Given the description of an element on the screen output the (x, y) to click on. 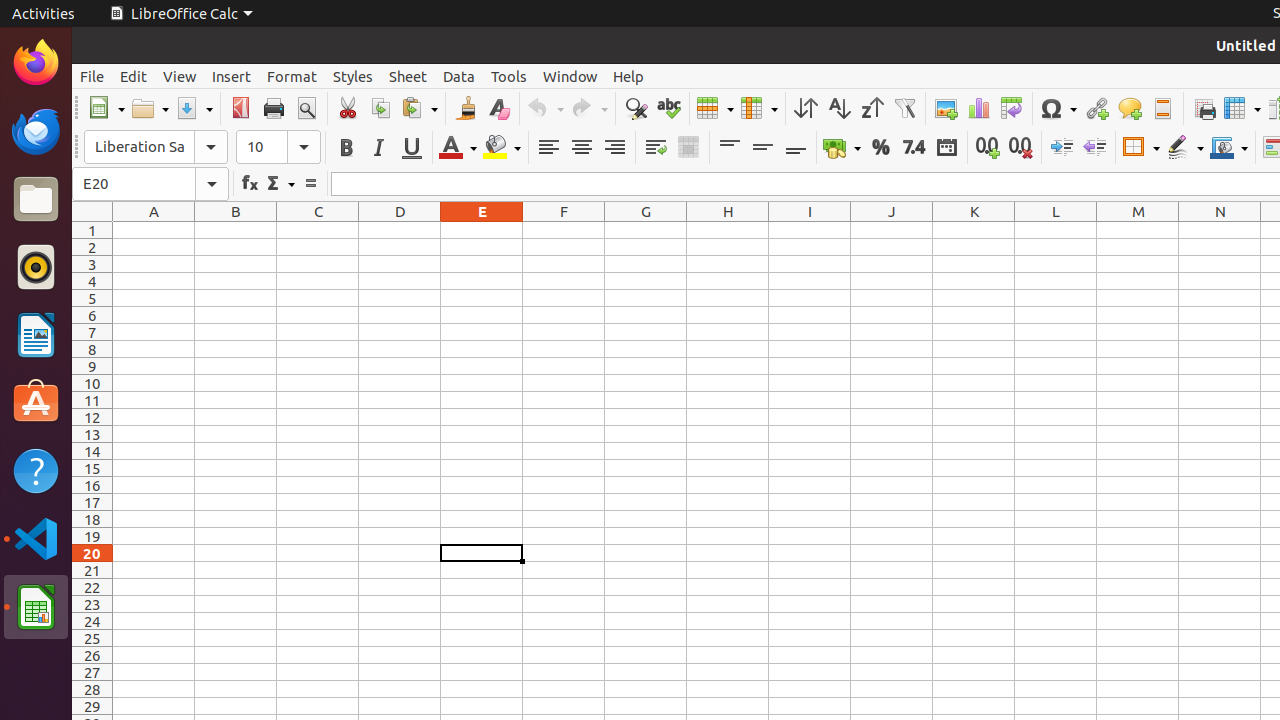
LibreOffice Writer Element type: push-button (36, 334)
Copy Element type: push-button (380, 108)
Row Element type: push-button (715, 108)
F1 Element type: table-cell (564, 230)
Tools Element type: menu (509, 76)
